Given the description of an element on the screen output the (x, y) to click on. 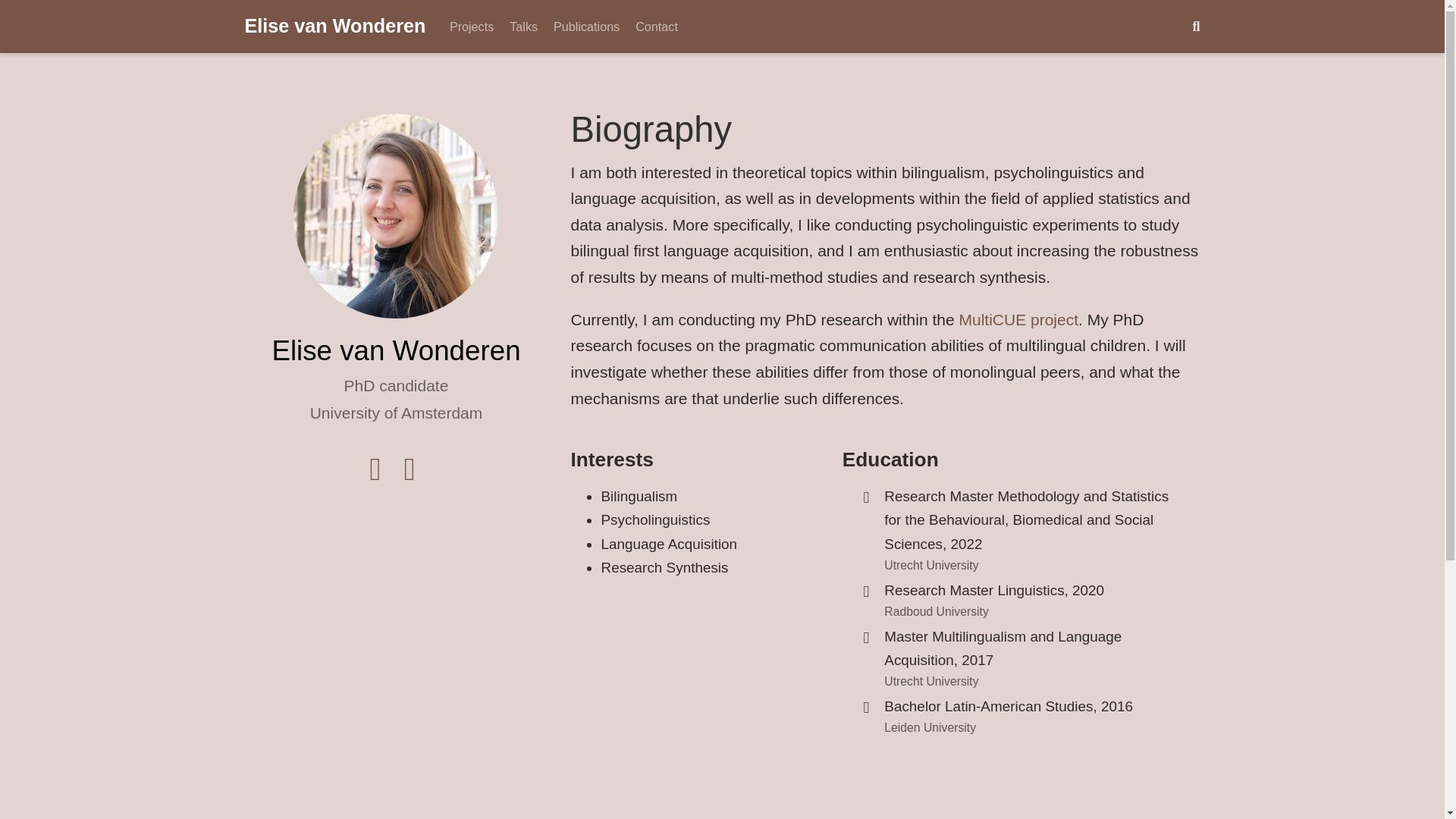
Projects (470, 25)
Publications (586, 25)
Talks (524, 25)
MultiCUE project (1018, 319)
Contact (656, 25)
Elise van Wonderen (334, 26)
